Given the description of an element on the screen output the (x, y) to click on. 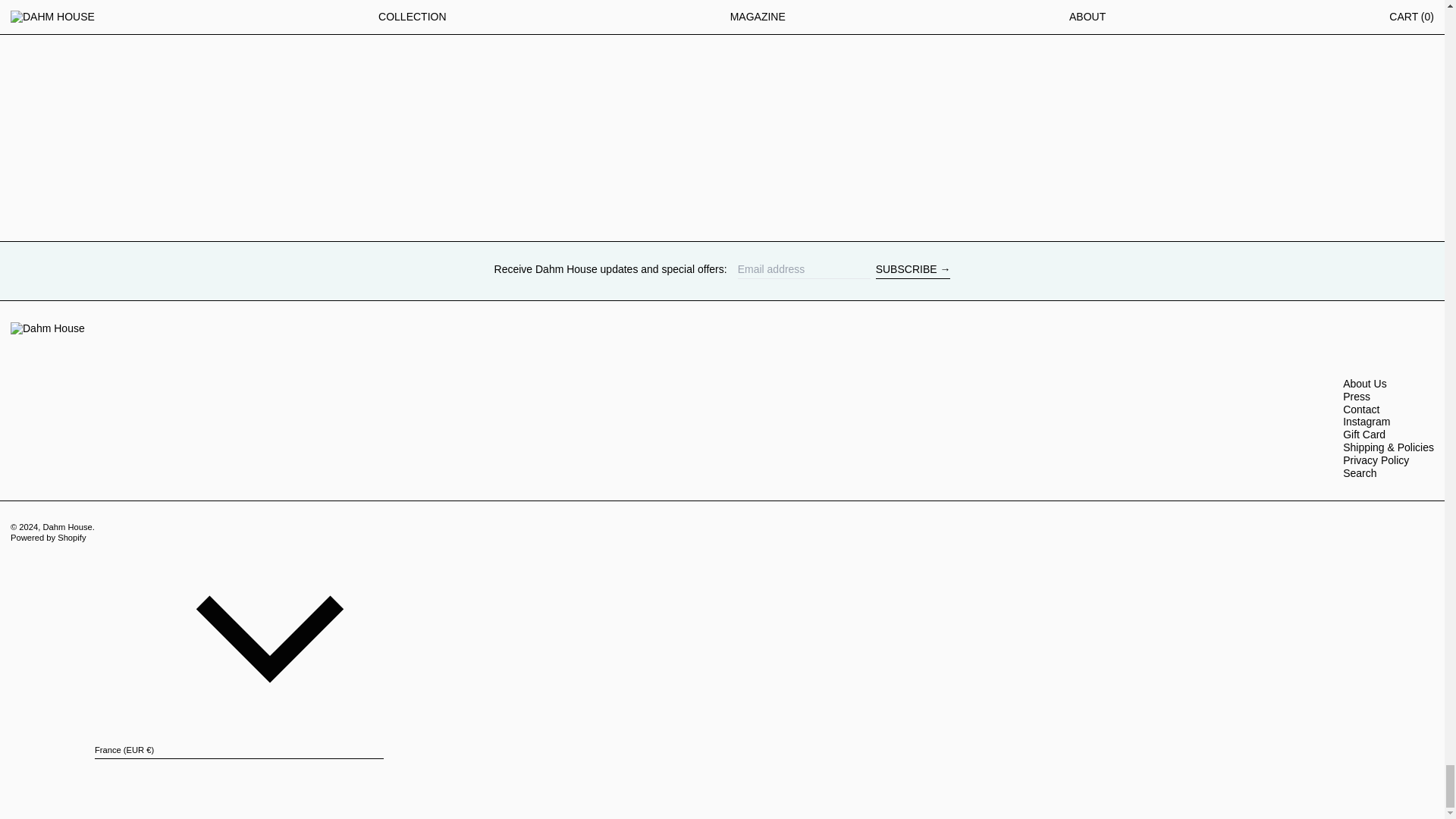
Dahm House (66, 526)
Search (1358, 472)
Press (1356, 396)
Powered by Shopify (47, 537)
Contact (1360, 409)
Gift Card (1364, 434)
About Us (1364, 383)
Instagram (1366, 421)
Privacy Policy (1375, 460)
